Given the description of an element on the screen output the (x, y) to click on. 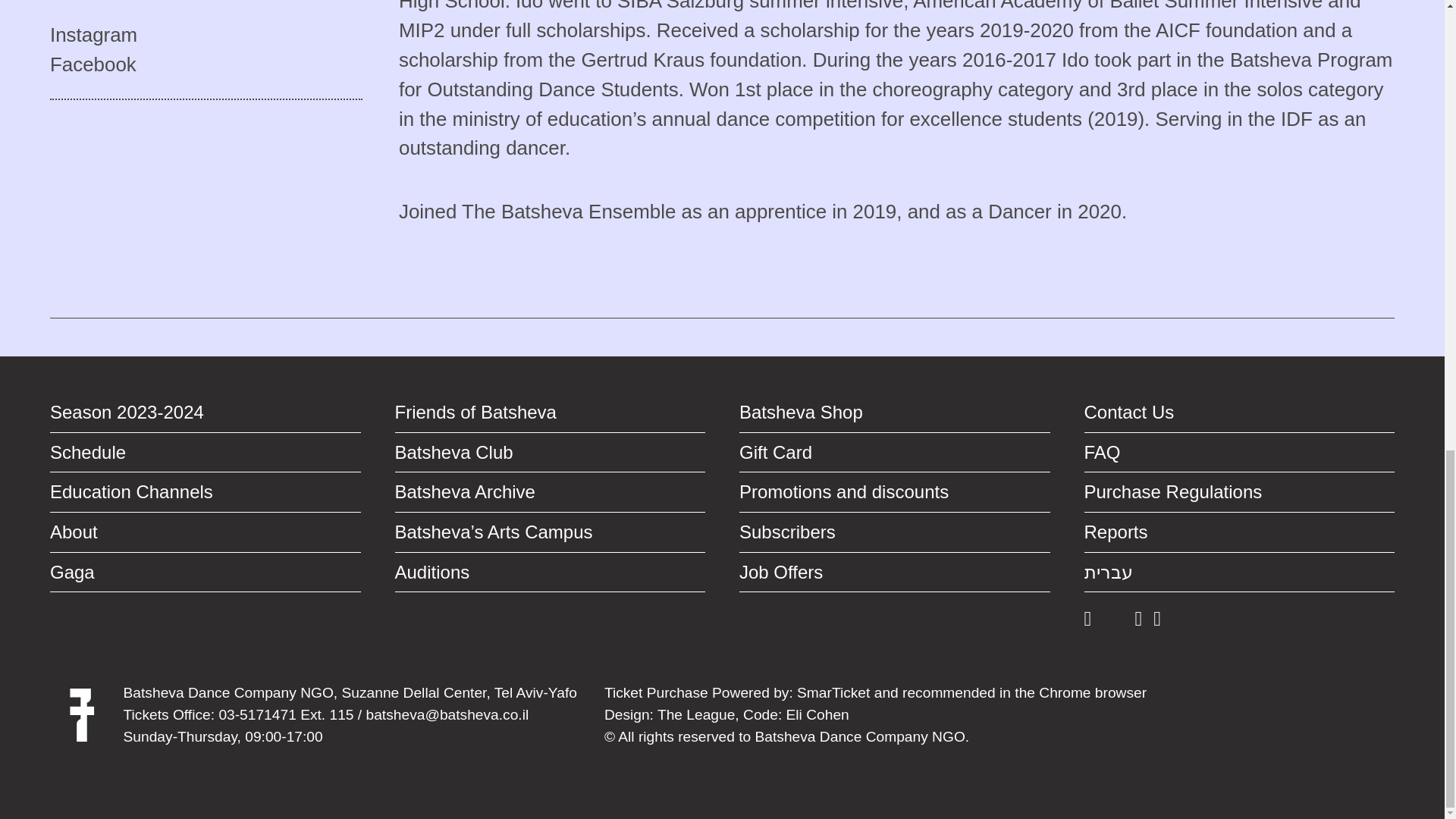
Gaga (205, 572)
Facebook (205, 64)
Batsheva Club (549, 453)
Promotions and discounts (894, 492)
Auditions (549, 572)
Batsheva Archive (549, 492)
About (205, 532)
Subscribers (894, 532)
Friends of Batsheva (549, 413)
Schedule (205, 453)
Education Channels (205, 492)
Instagram (205, 34)
Batsheva Shop (894, 413)
Gift Card (894, 453)
Season 2023-2024 (205, 413)
